Given the description of an element on the screen output the (x, y) to click on. 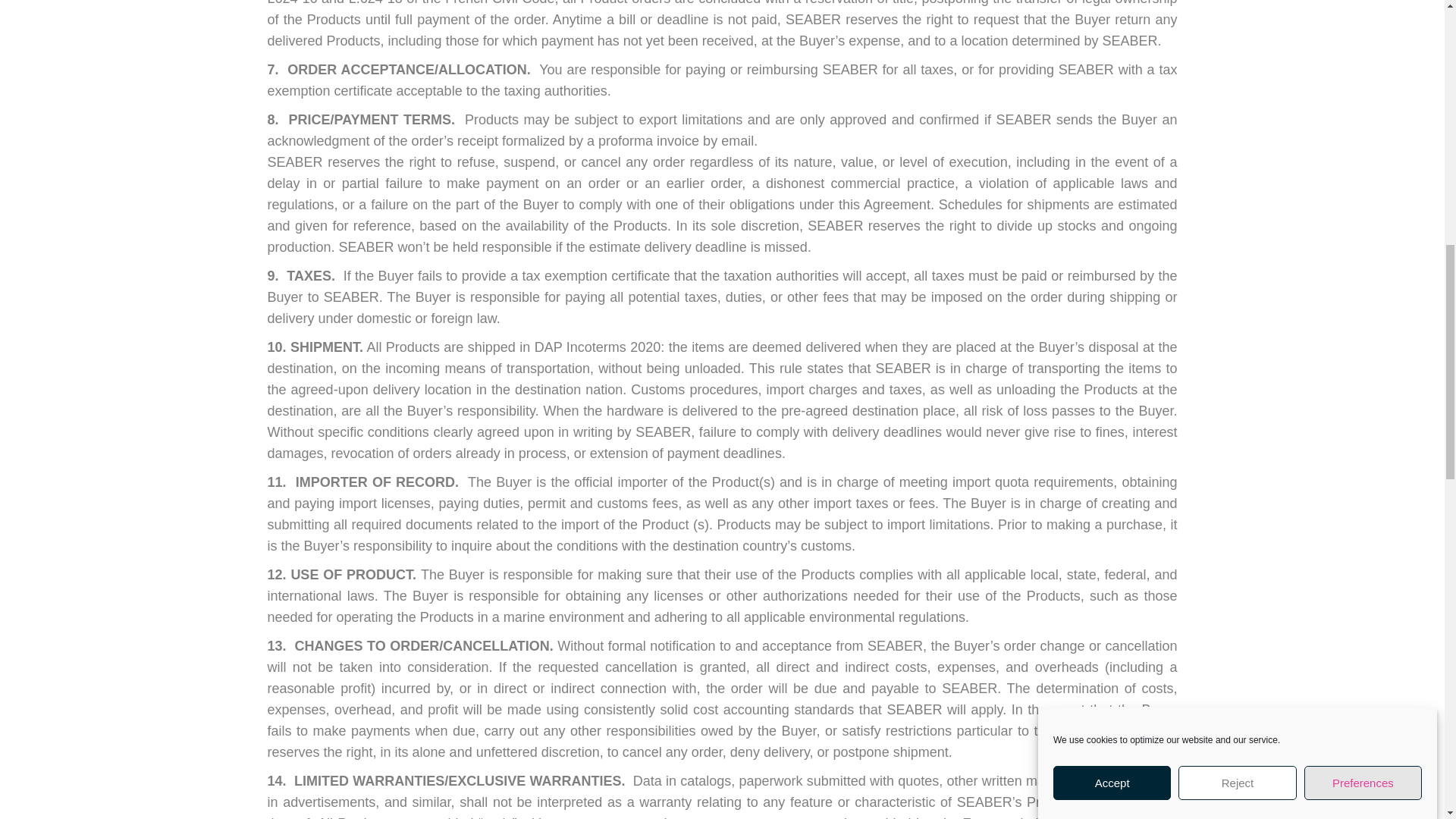
Accept (1111, 191)
Preferences (1363, 137)
Reject (1236, 163)
